Given the description of an element on the screen output the (x, y) to click on. 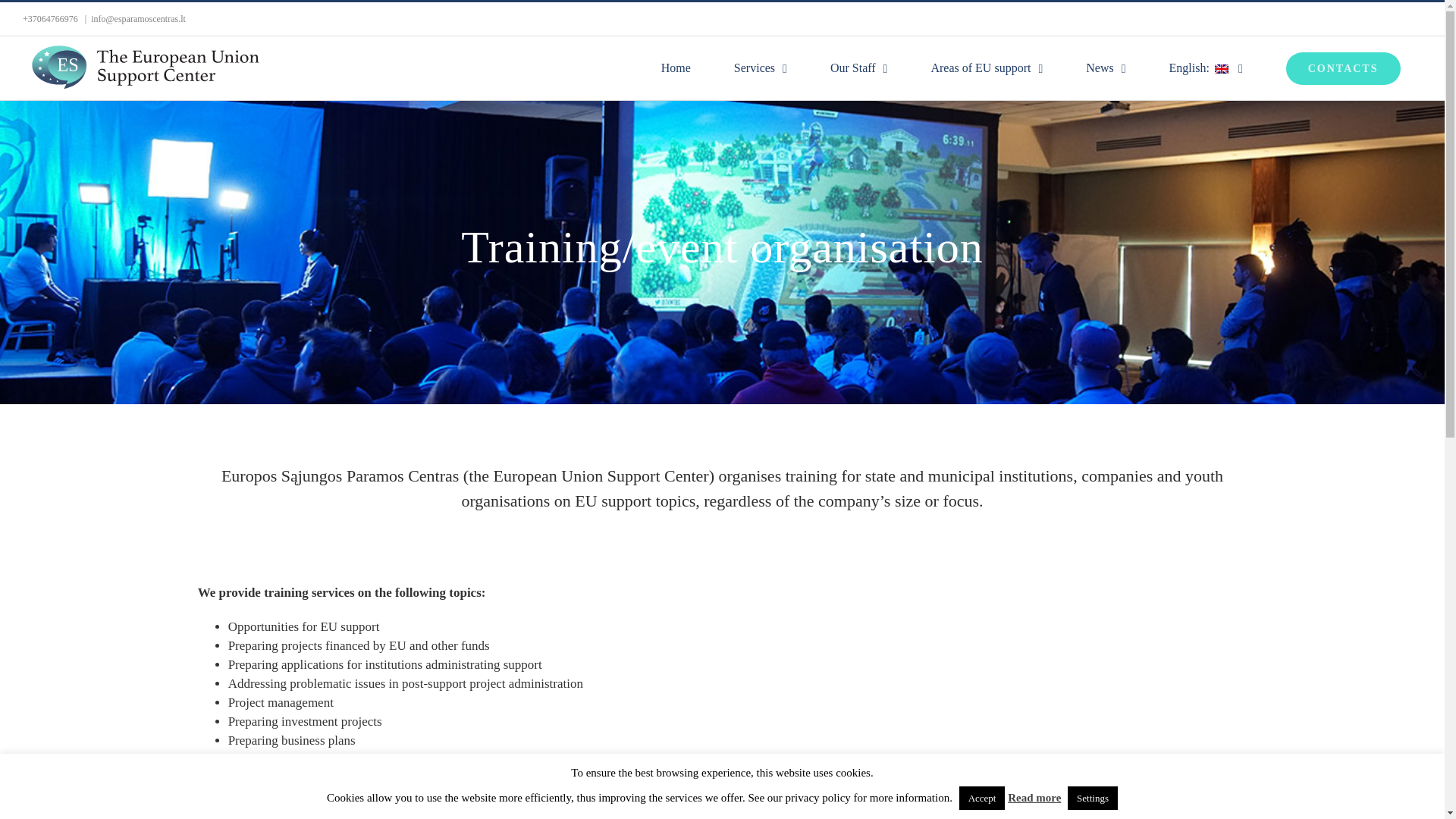
Home (675, 67)
CONTACTS (1342, 67)
Services (759, 67)
Our Staff (858, 67)
News (1105, 67)
Areas of EU support (986, 67)
English (1205, 67)
English:  (1205, 67)
